Given the description of an element on the screen output the (x, y) to click on. 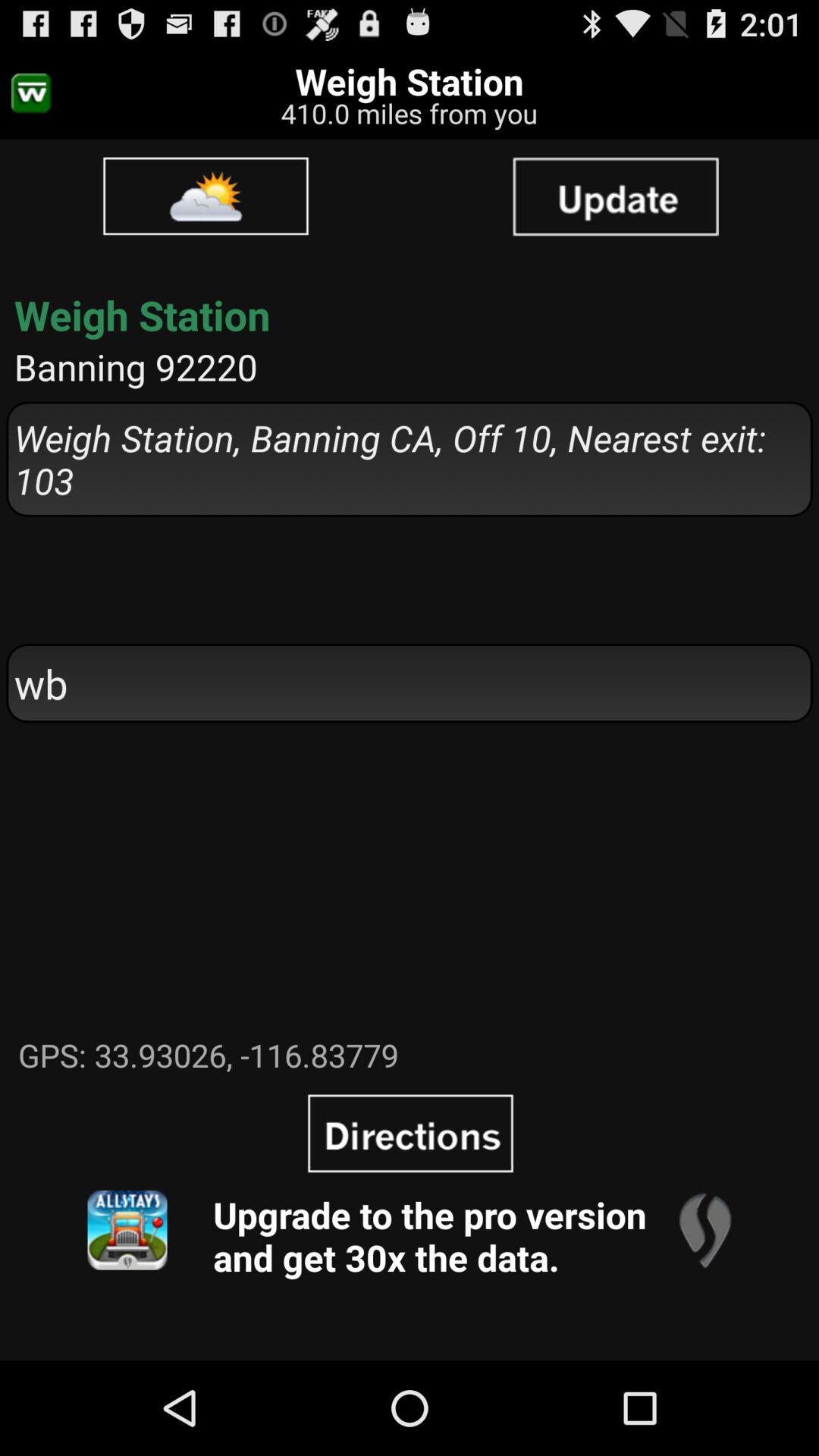
click the item below 410 0 miles (205, 196)
